Given the description of an element on the screen output the (x, y) to click on. 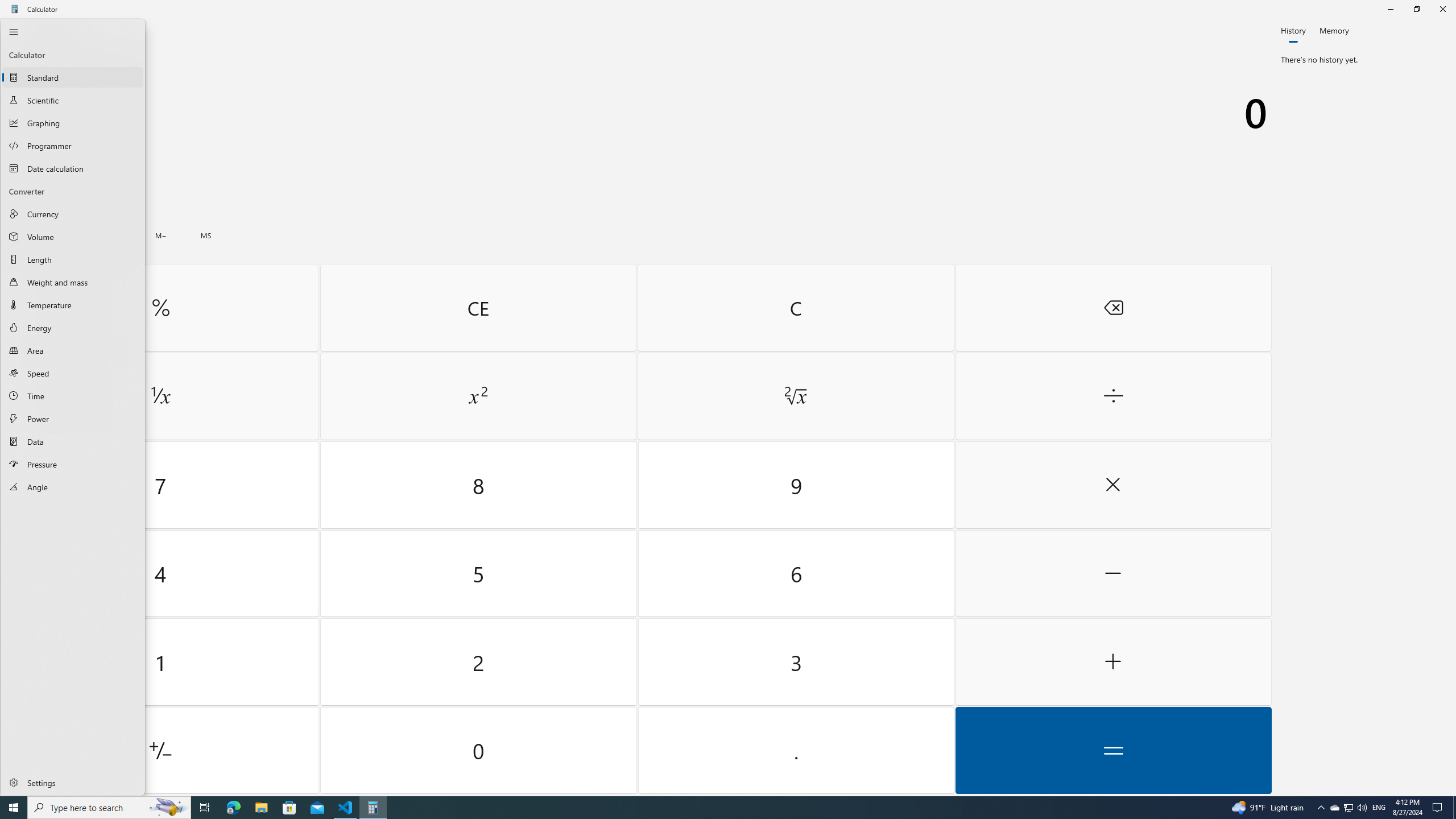
Memory store (206, 235)
Nine (795, 485)
Reciprocal (160, 396)
Memory subtract (160, 235)
Power Converter (72, 418)
Seven (160, 485)
Square root (795, 396)
Close Calculator (1442, 9)
Divide by (1113, 396)
Graphing Calculator (72, 122)
Scientific Calculator (72, 100)
Six (795, 572)
